Given the description of an element on the screen output the (x, y) to click on. 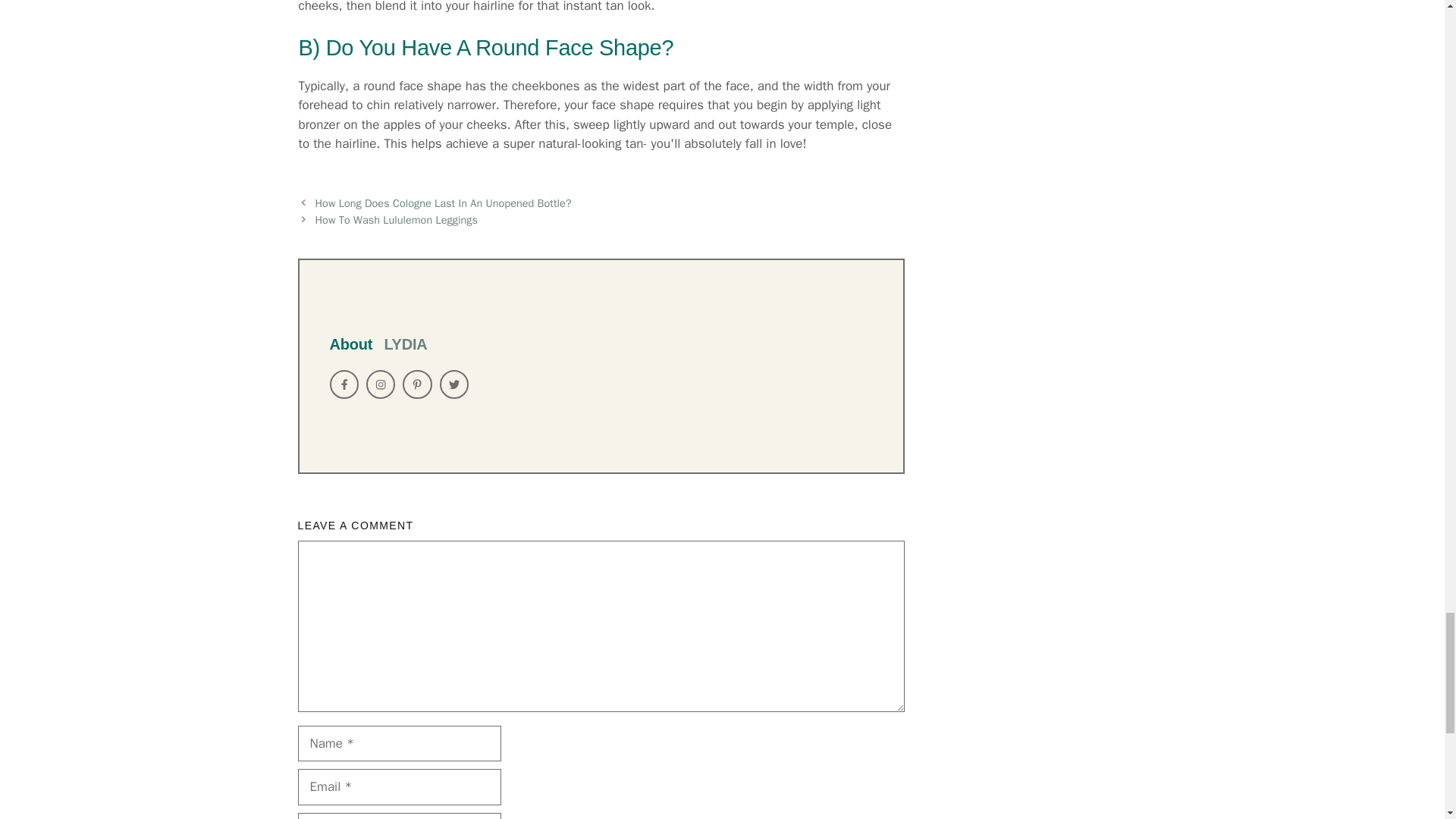
How Long Does Cologne Last In An Unopened Bottle? (443, 202)
How To Wash Lululemon Leggings (396, 219)
LYDIA (405, 343)
